Given the description of an element on the screen output the (x, y) to click on. 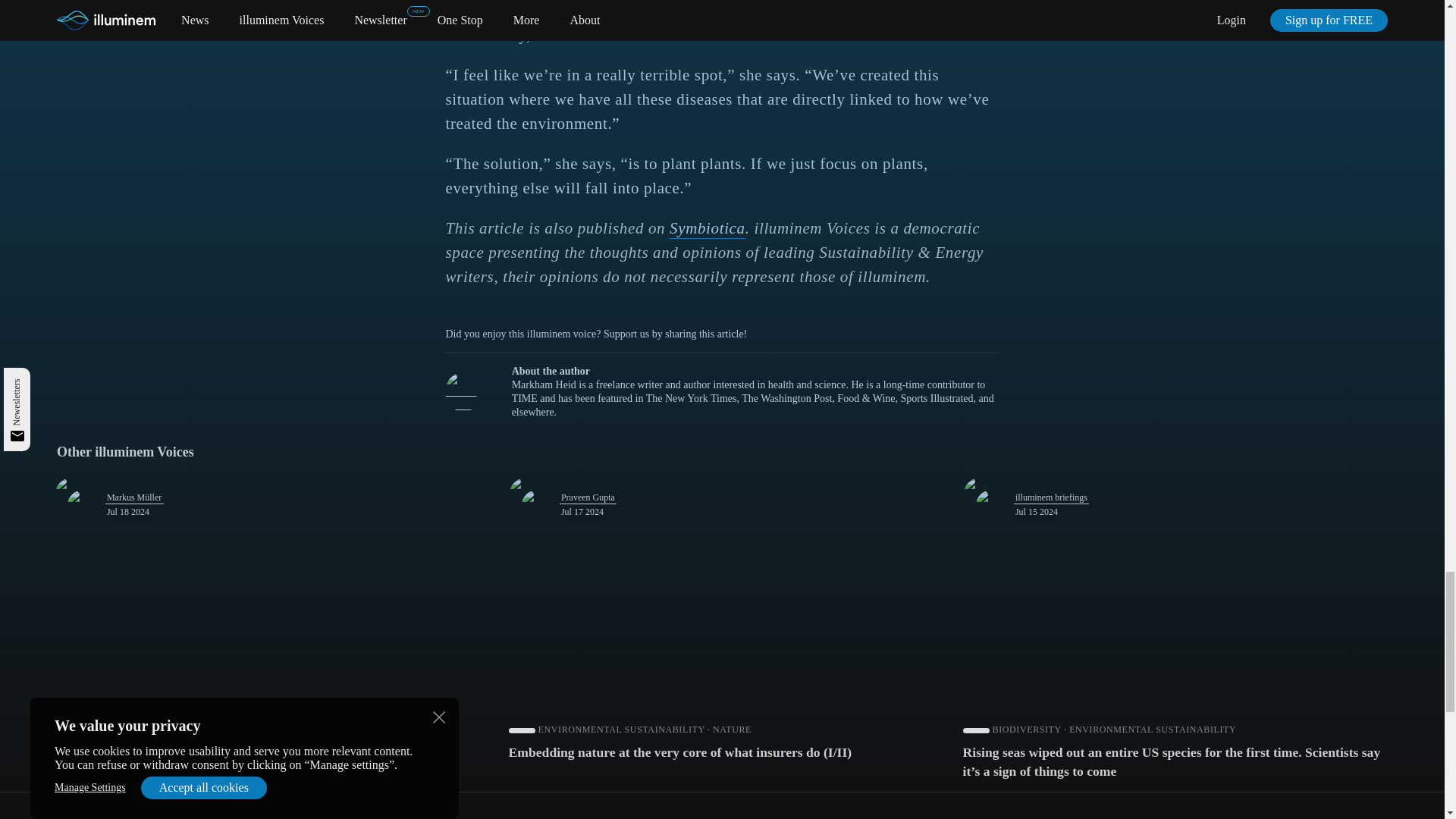
Symbiotica (707, 229)
